Given the description of an element on the screen output the (x, y) to click on. 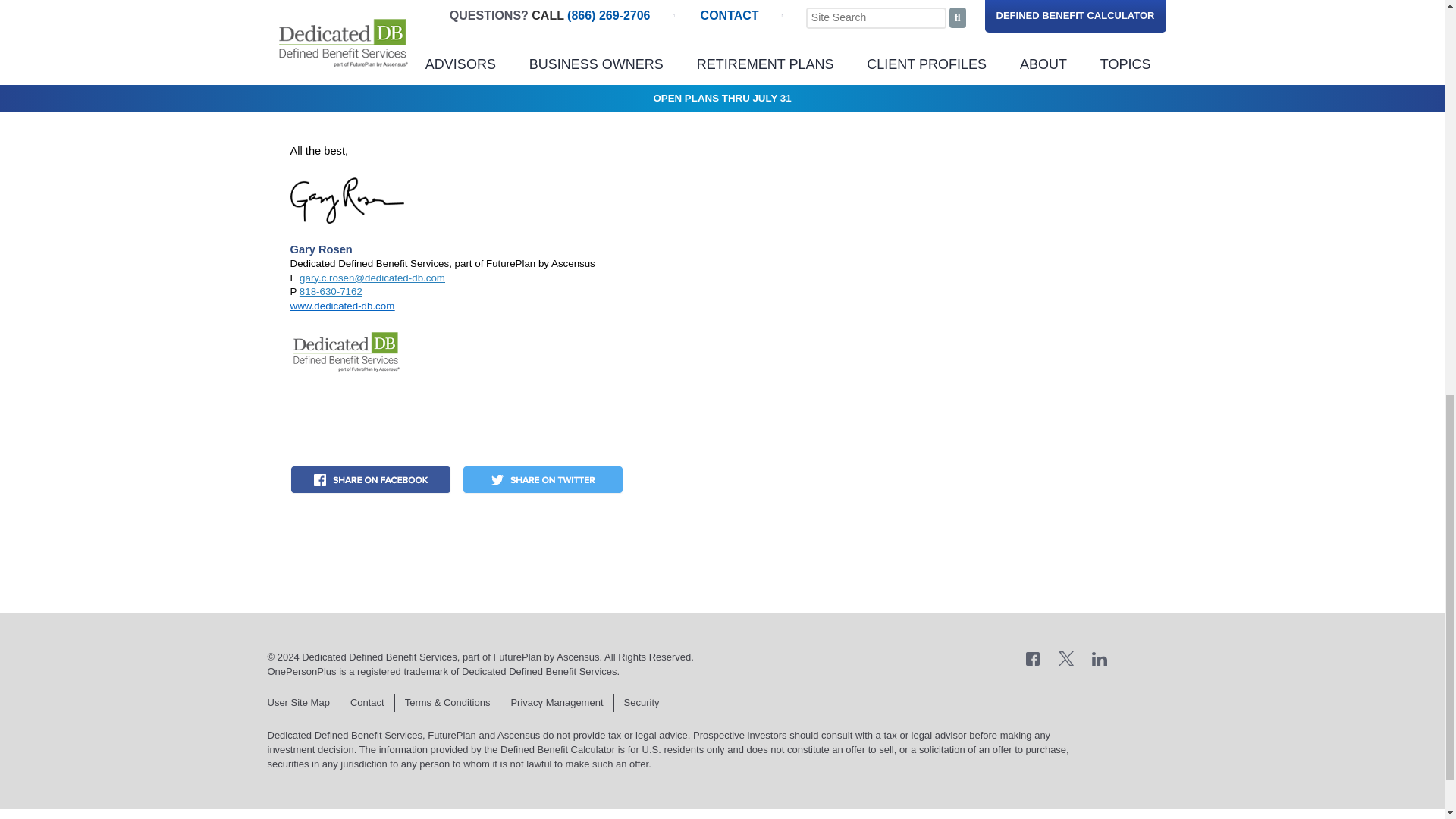
Join us on Facebook (1033, 657)
Tweet us on Twitter (1066, 657)
Connect with us on LinkedIn (1099, 657)
